Given the description of an element on the screen output the (x, y) to click on. 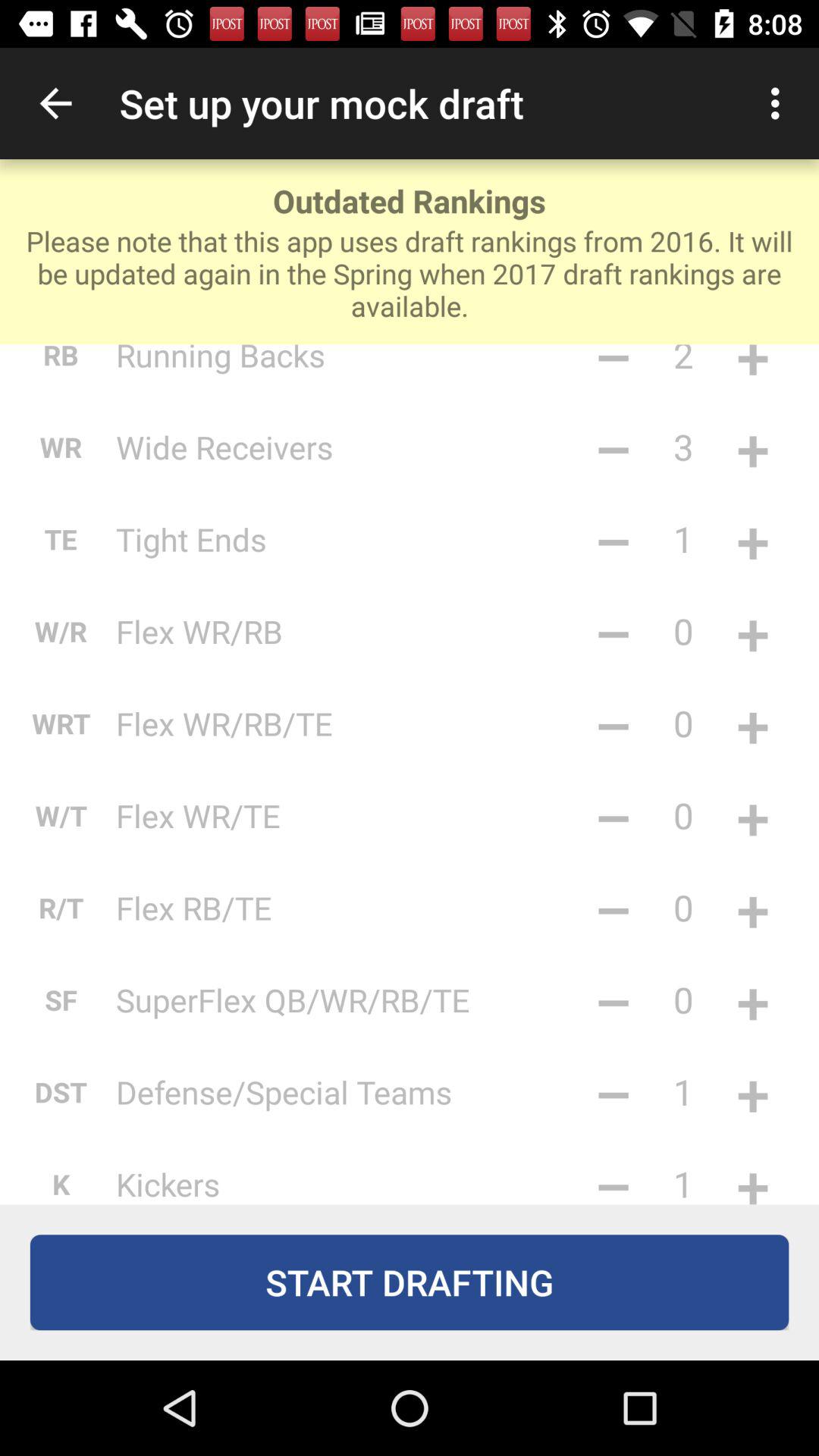
select icon below + (752, 1174)
